Given the description of an element on the screen output the (x, y) to click on. 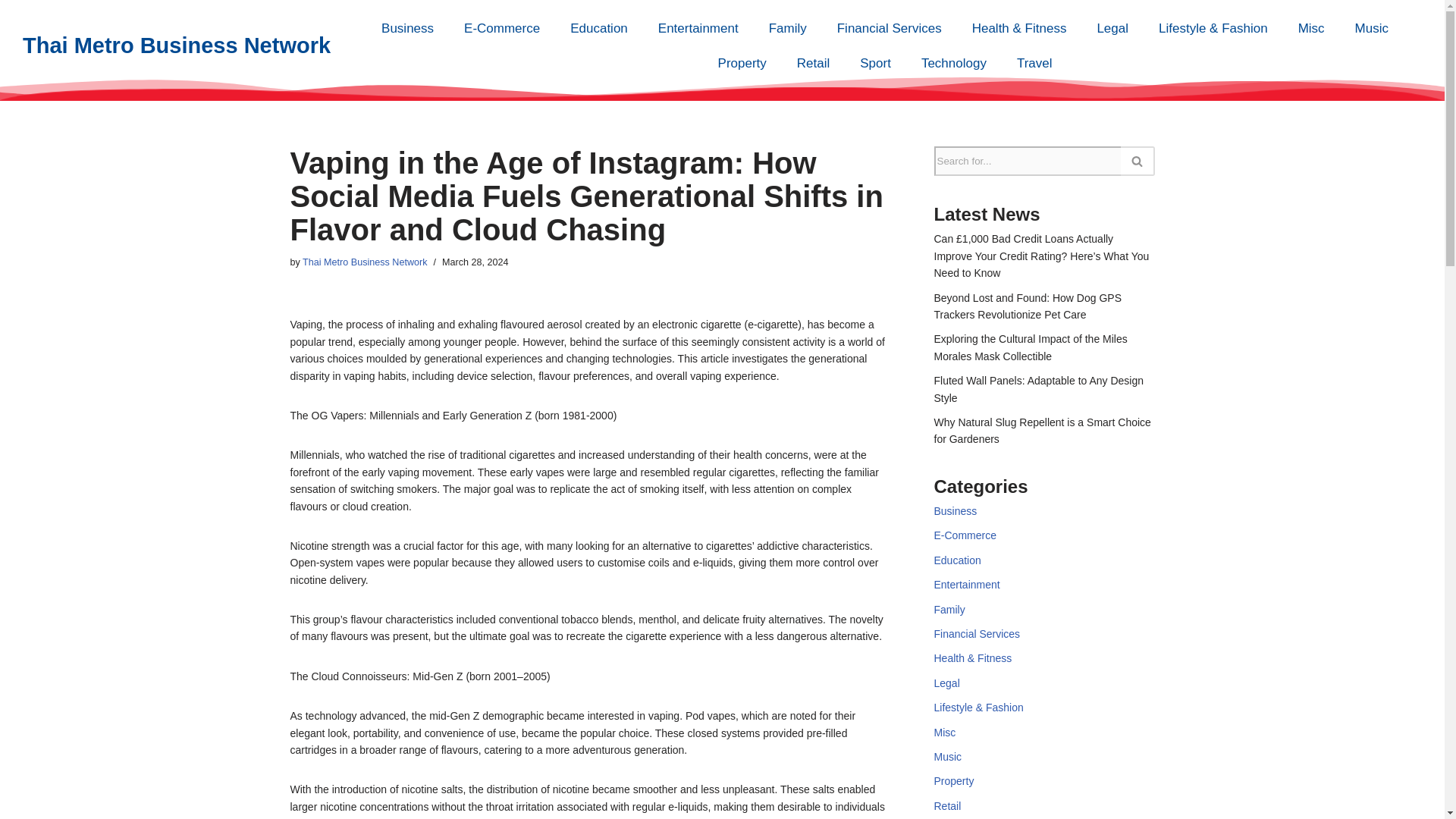
Legal (1111, 28)
Thai Metro Business Network (364, 262)
Technology (953, 63)
Thai Metro Business Network (176, 45)
Family (788, 28)
Financial Services (889, 28)
Travel (1034, 63)
Music (1371, 28)
E-Commerce (501, 28)
Misc (1310, 28)
Property (742, 63)
Entertainment (698, 28)
Posts by Thai Metro Business Network (364, 262)
Retail (812, 63)
